Given the description of an element on the screen output the (x, y) to click on. 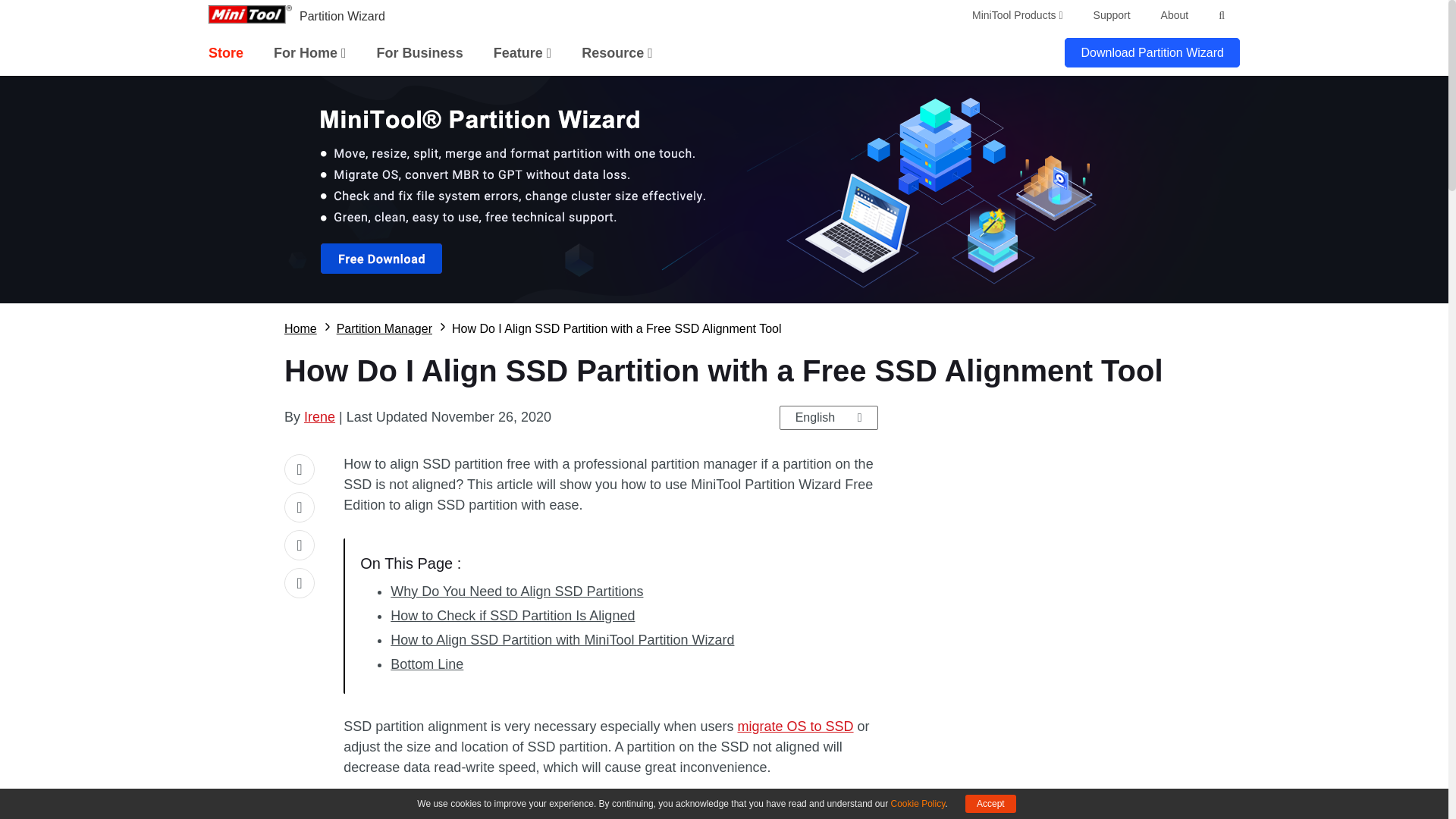
How to Align SSD Partition with MiniTool Partition Wizard (561, 639)
Support (1112, 15)
Partition Wizard (342, 15)
Feature (522, 52)
Store (225, 52)
Irene (319, 417)
Download Partition Wizard (1152, 52)
English (827, 416)
MiniTool Products (1017, 15)
Home (300, 328)
Why Do You Need to Align SSD Partitions (516, 590)
About (1174, 15)
Resource (616, 52)
Partition Manager (384, 328)
How to Check if SSD Partition Is Aligned (512, 615)
